Given the description of an element on the screen output the (x, y) to click on. 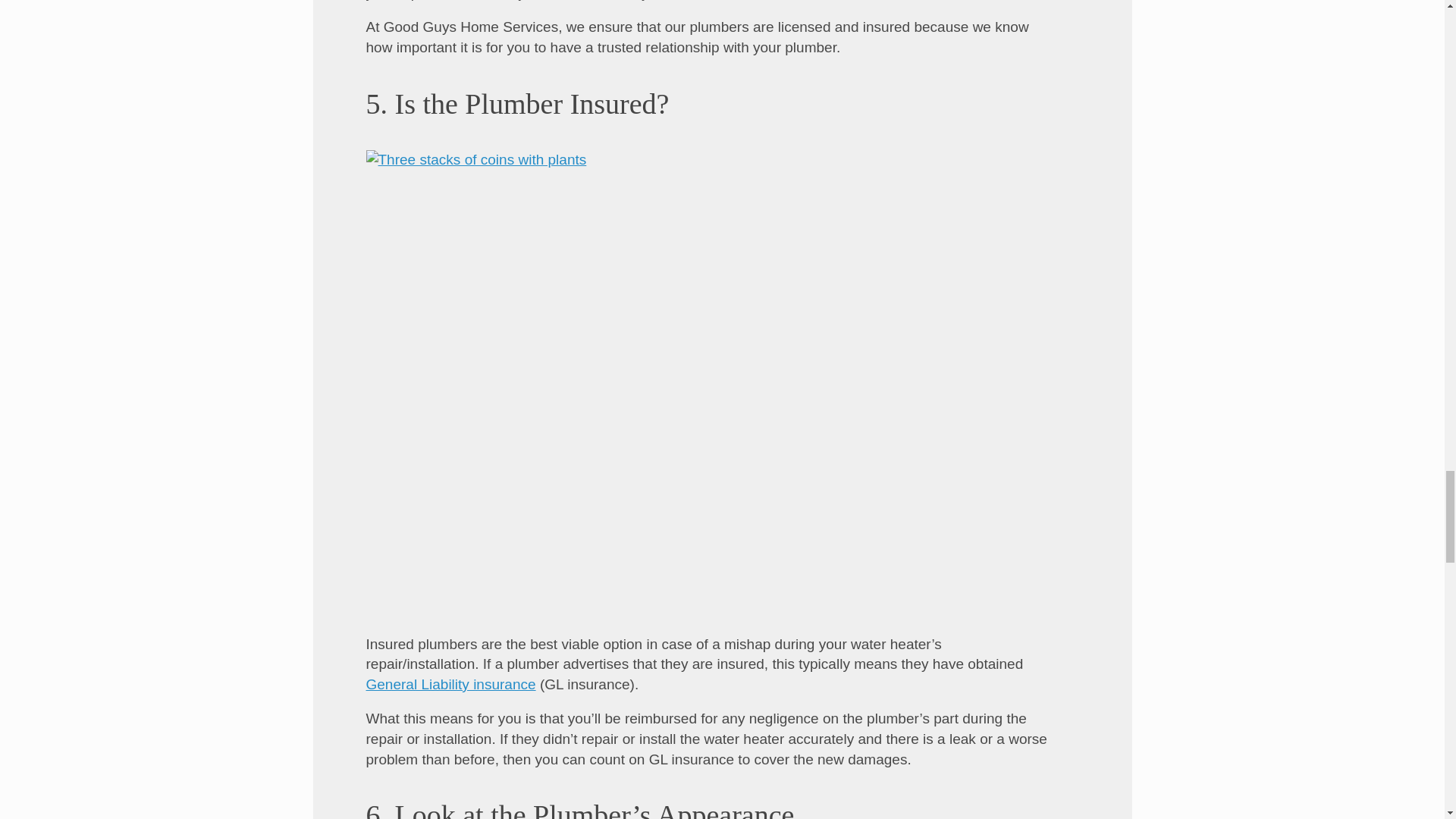
General Liability insurance (450, 684)
